Given the description of an element on the screen output the (x, y) to click on. 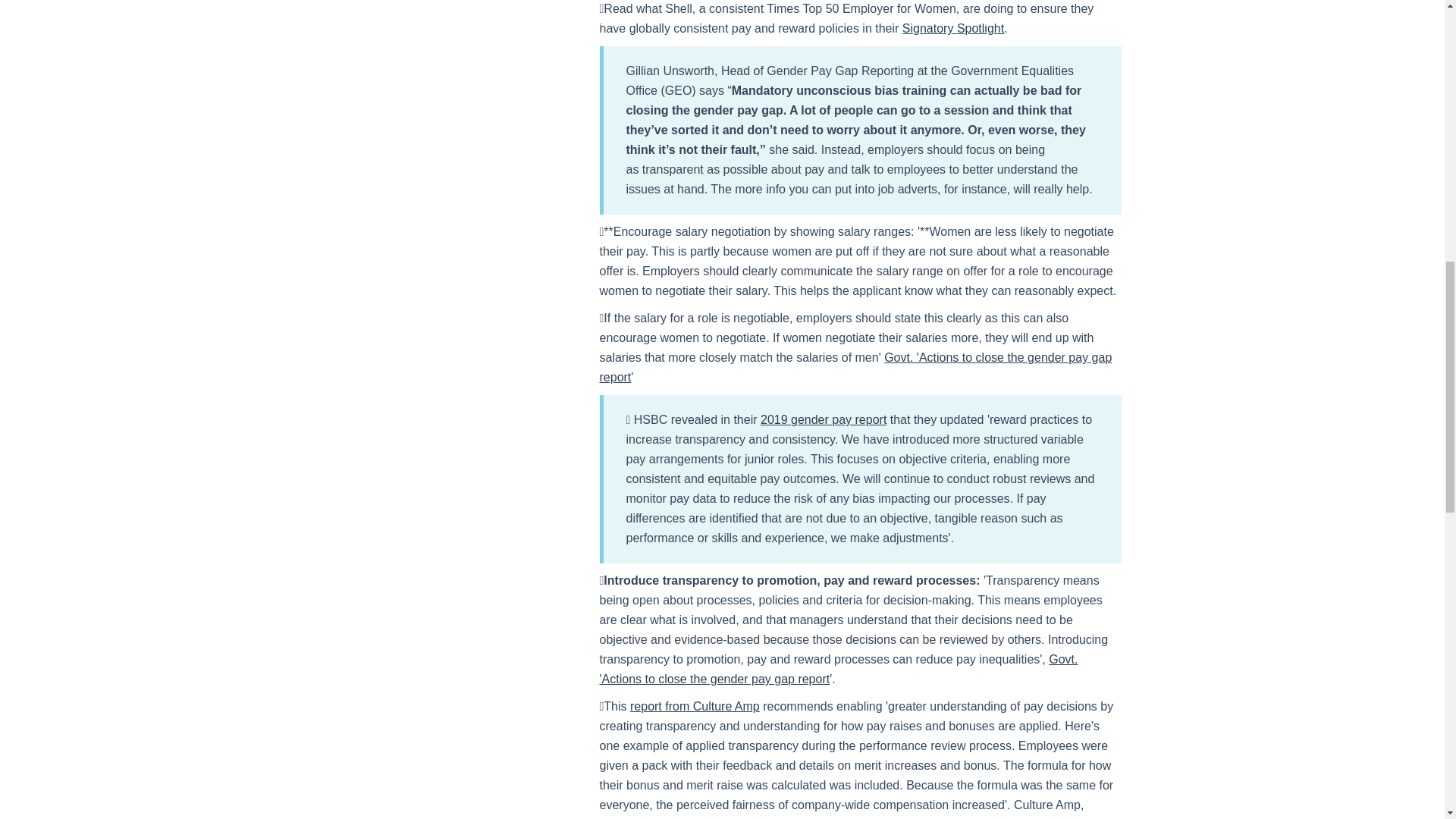
report from Culture Amp (695, 706)
Govt. 'Actions to close the gender pay gap report (855, 367)
2019 gender pay report (823, 419)
Govt. 'Actions to close the gender pay gap report (837, 668)
Signatory Spotlight (953, 28)
